Given the description of an element on the screen output the (x, y) to click on. 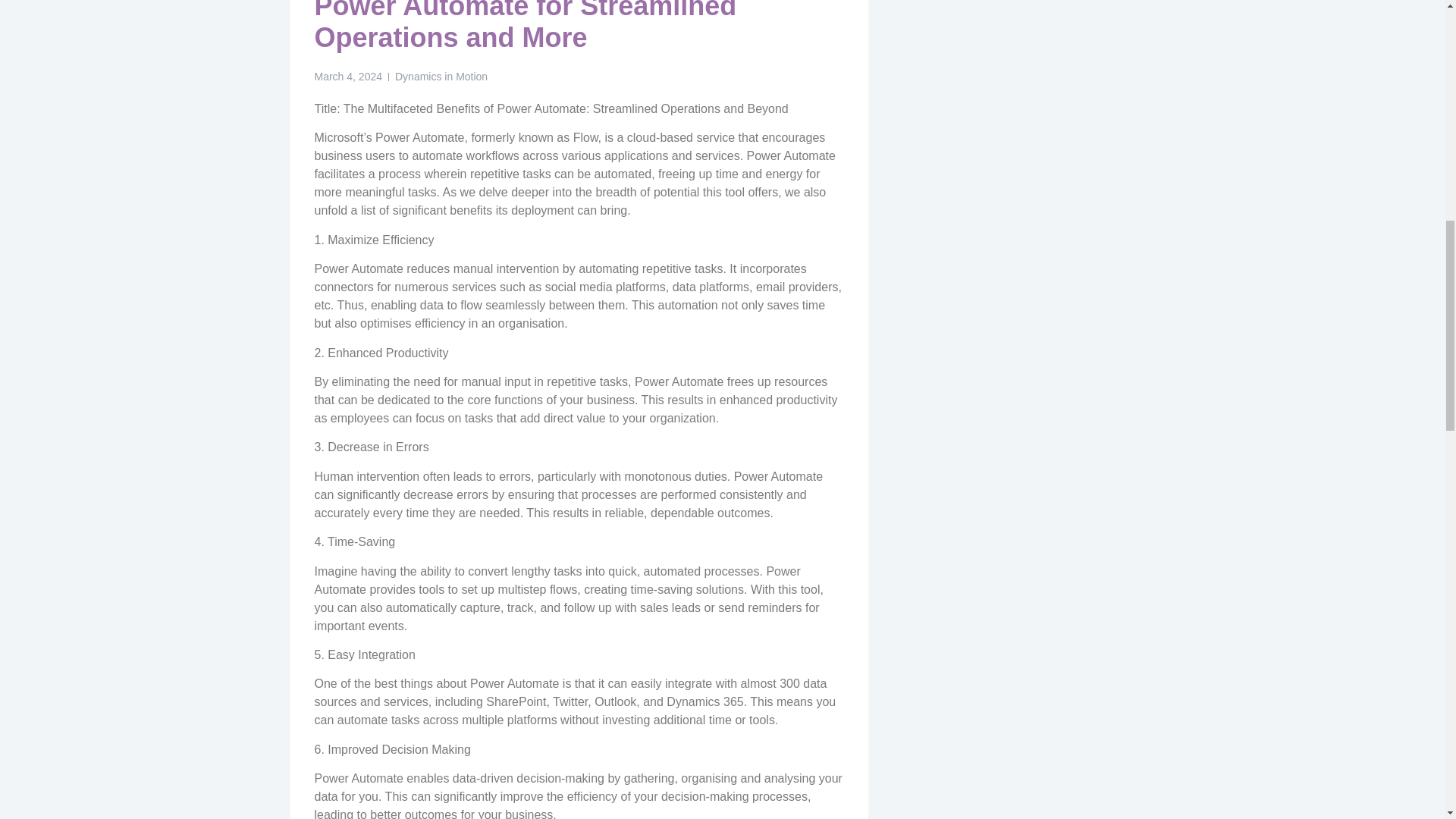
Dynamics in Motion (440, 76)
